Given the description of an element on the screen output the (x, y) to click on. 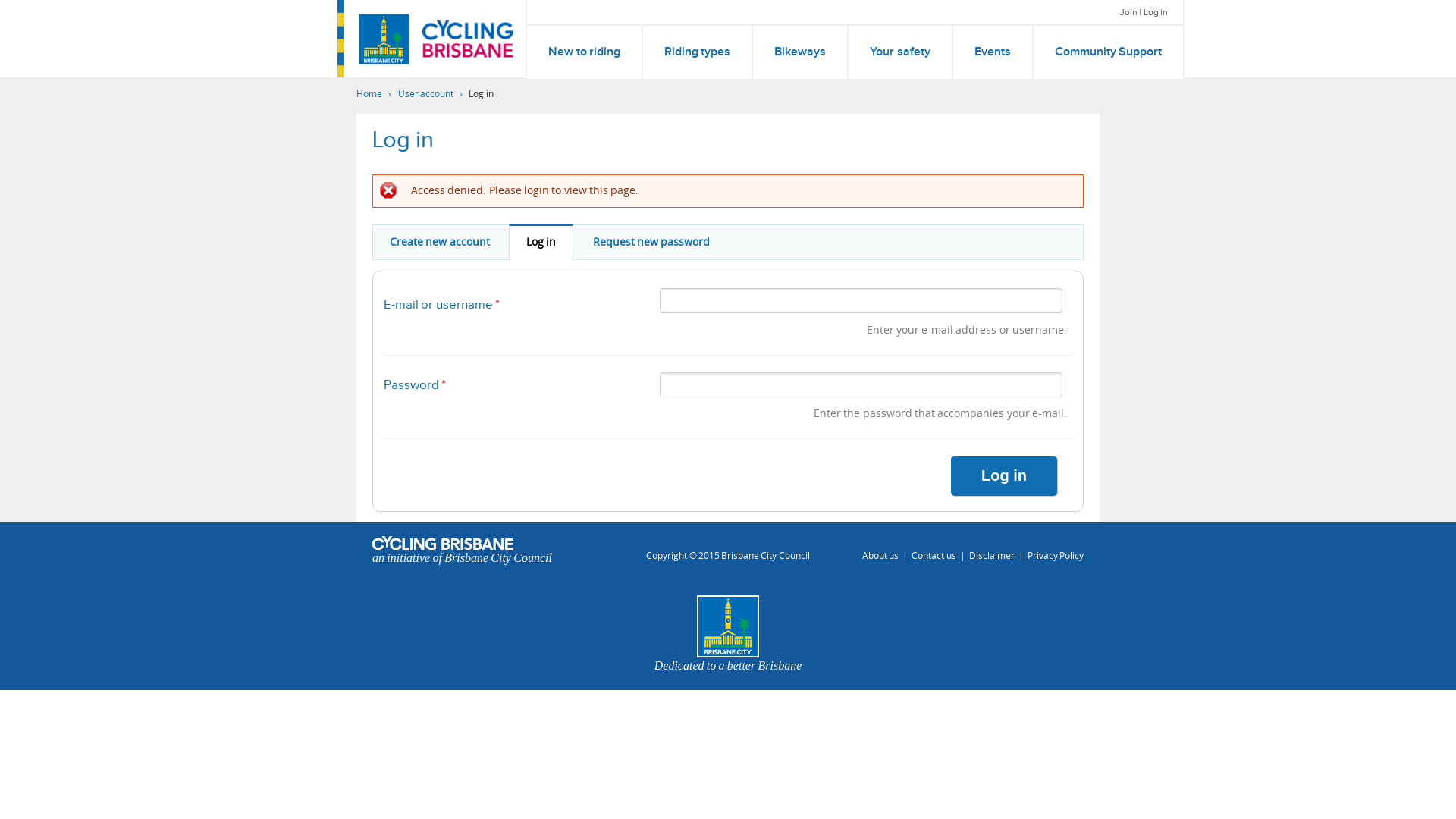
Home Element type: text (371, 93)
Riding types Element type: text (697, 51)
Cycling Brisbane is an initiative of Brisbane City Council Element type: hover (387, 38)
About us Element type: text (880, 555)
Cycling Brisbane Element type: hover (467, 38)
Log in Element type: text (1003, 475)
Privacy Policy Element type: text (1055, 555)
Your safety Element type: text (899, 51)
New to riding Element type: text (584, 51)
Contact us Element type: text (933, 555)
Disclaimer Element type: text (991, 555)
Log in
(active tab) Element type: text (540, 241)
Request new password Element type: text (651, 242)
Join | Log in Element type: text (1143, 11)
Community Support Element type: text (1108, 51)
Events Element type: text (992, 51)
User account Element type: text (428, 93)
Bikeways Element type: text (800, 51)
Create new account Element type: text (439, 242)
